Given the description of an element on the screen output the (x, y) to click on. 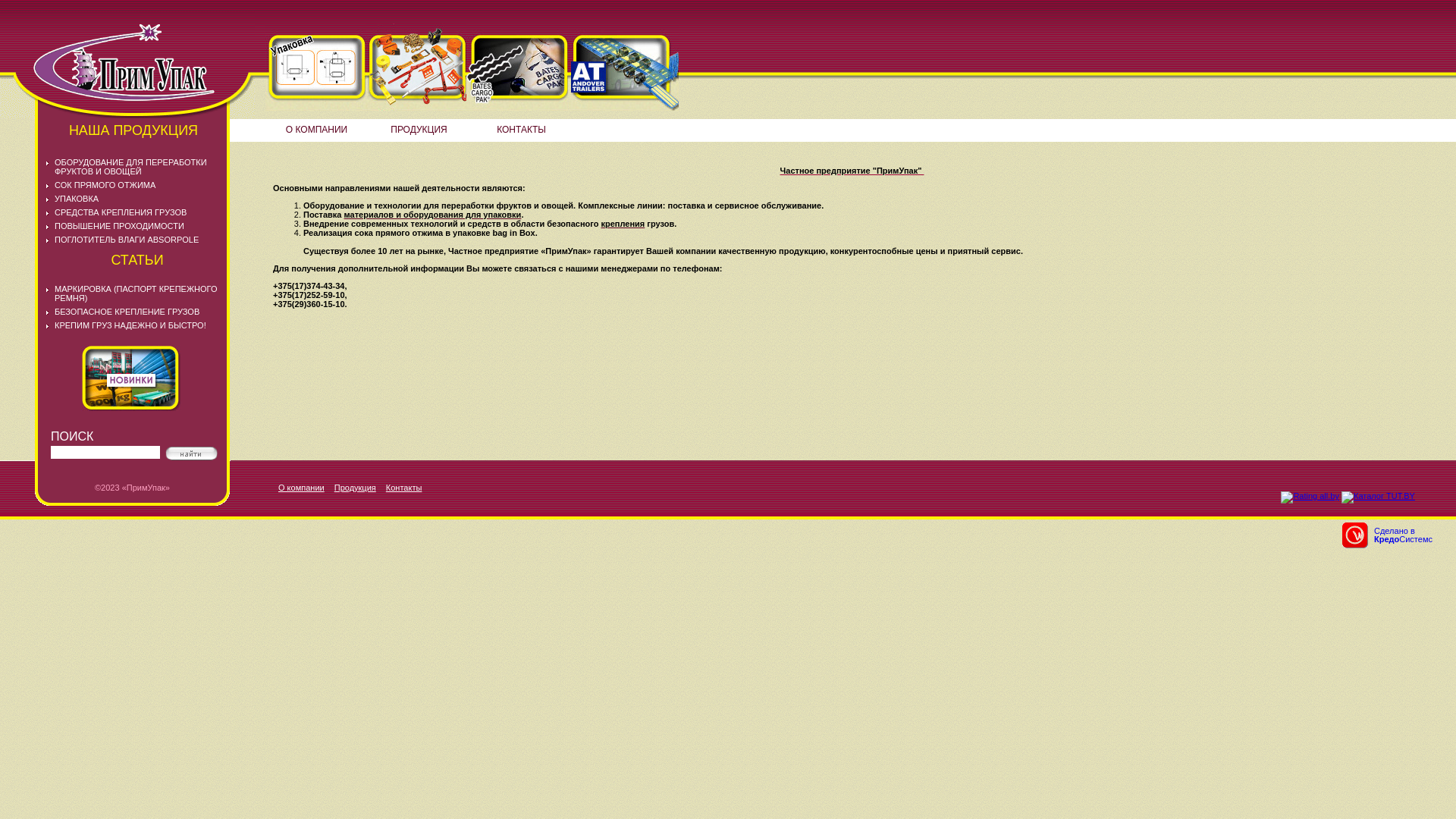
LiveInternet Element type: hover (1428, 486)
